Given the description of an element on the screen output the (x, y) to click on. 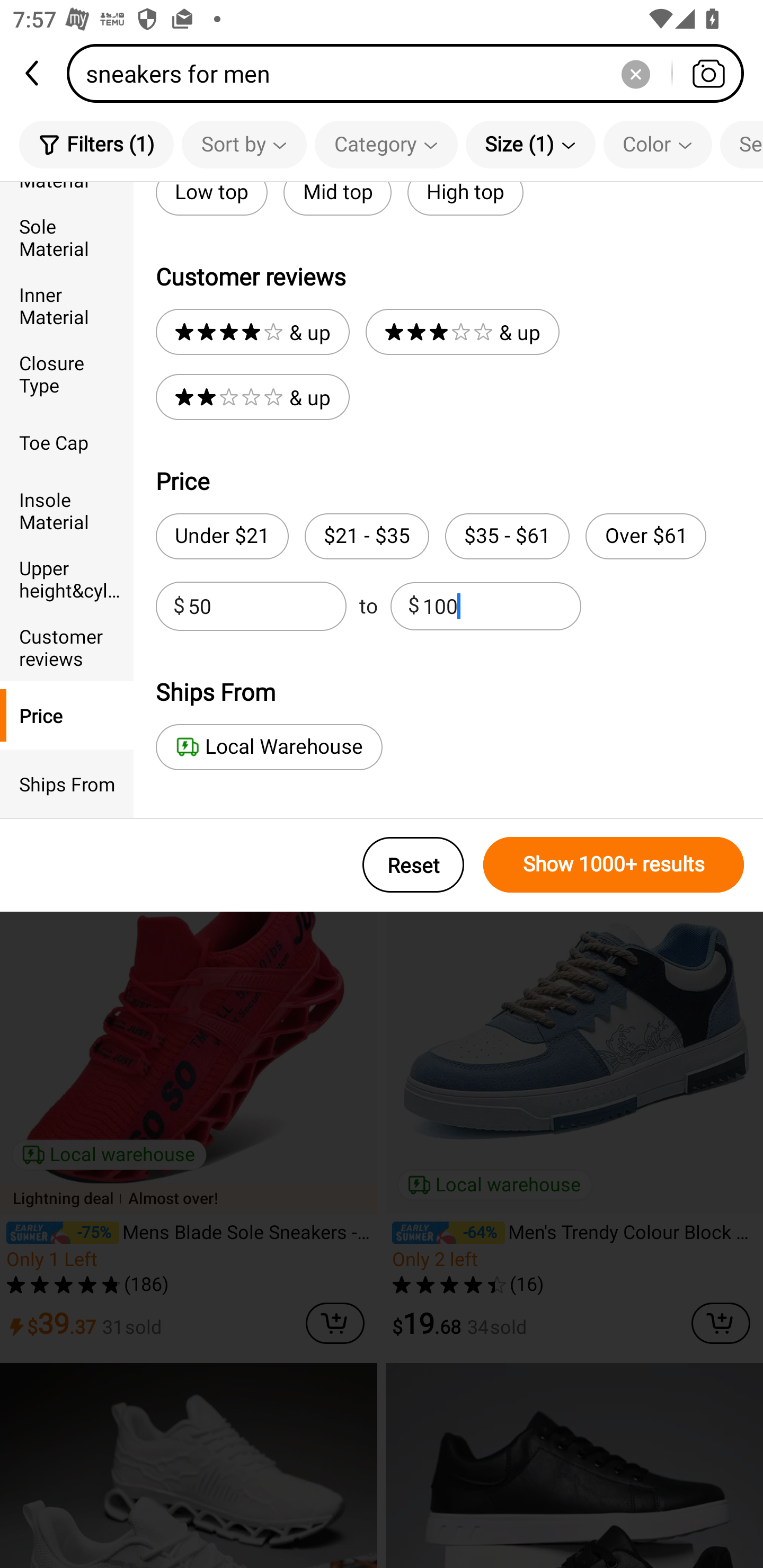
back (33, 72)
sneakers for men (411, 73)
Delete search history (635, 73)
Search by photo (708, 73)
Filters (1) (96, 143)
Sort by (243, 143)
Category (385, 143)
Size (1) (530, 143)
Color (657, 143)
Low top (211, 198)
Mid top (337, 198)
High top (465, 198)
Sole Material (66, 236)
Inner Material (66, 305)
& up (252, 331)
& up (462, 331)
Closure Type (66, 373)
& up (252, 397)
Toe Cap (66, 441)
Insole Material (66, 510)
Under $21 (221, 535)
$21 - $35 (366, 535)
$35 - $61 (506, 535)
Over $61 (645, 535)
Upper height&cylinder height (66, 578)
$ 50 to $ 100 (368, 605)
Customer reviews (66, 646)
Price (66, 714)
Local Warehouse (268, 746)
Reset (412, 864)
Show 1000+ results (612, 864)
